Given the description of an element on the screen output the (x, y) to click on. 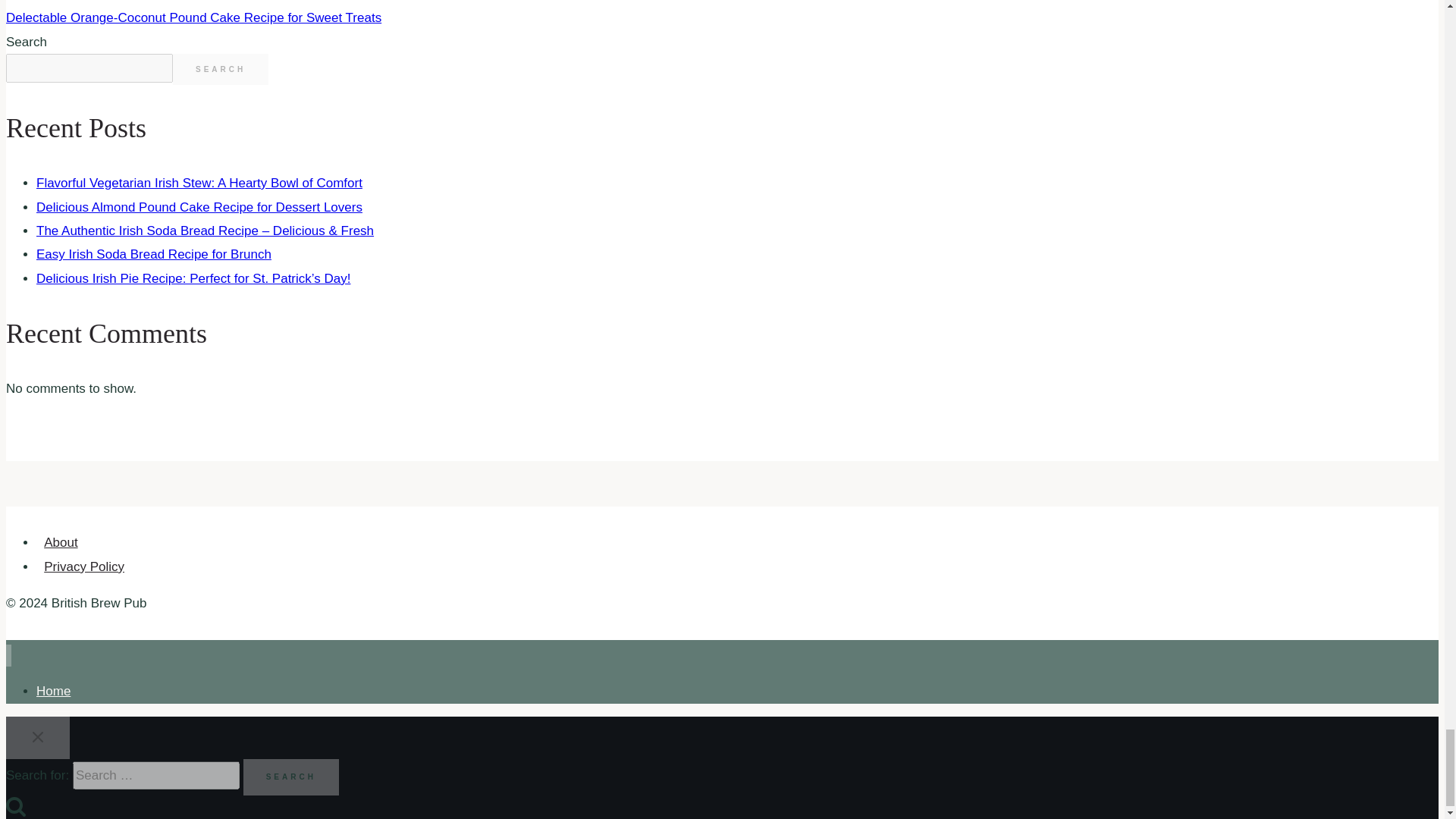
SEARCH (220, 69)
TOGGLE MENU CLOSE (37, 737)
Search (291, 777)
Search (291, 777)
Search (15, 805)
